Given the description of an element on the screen output the (x, y) to click on. 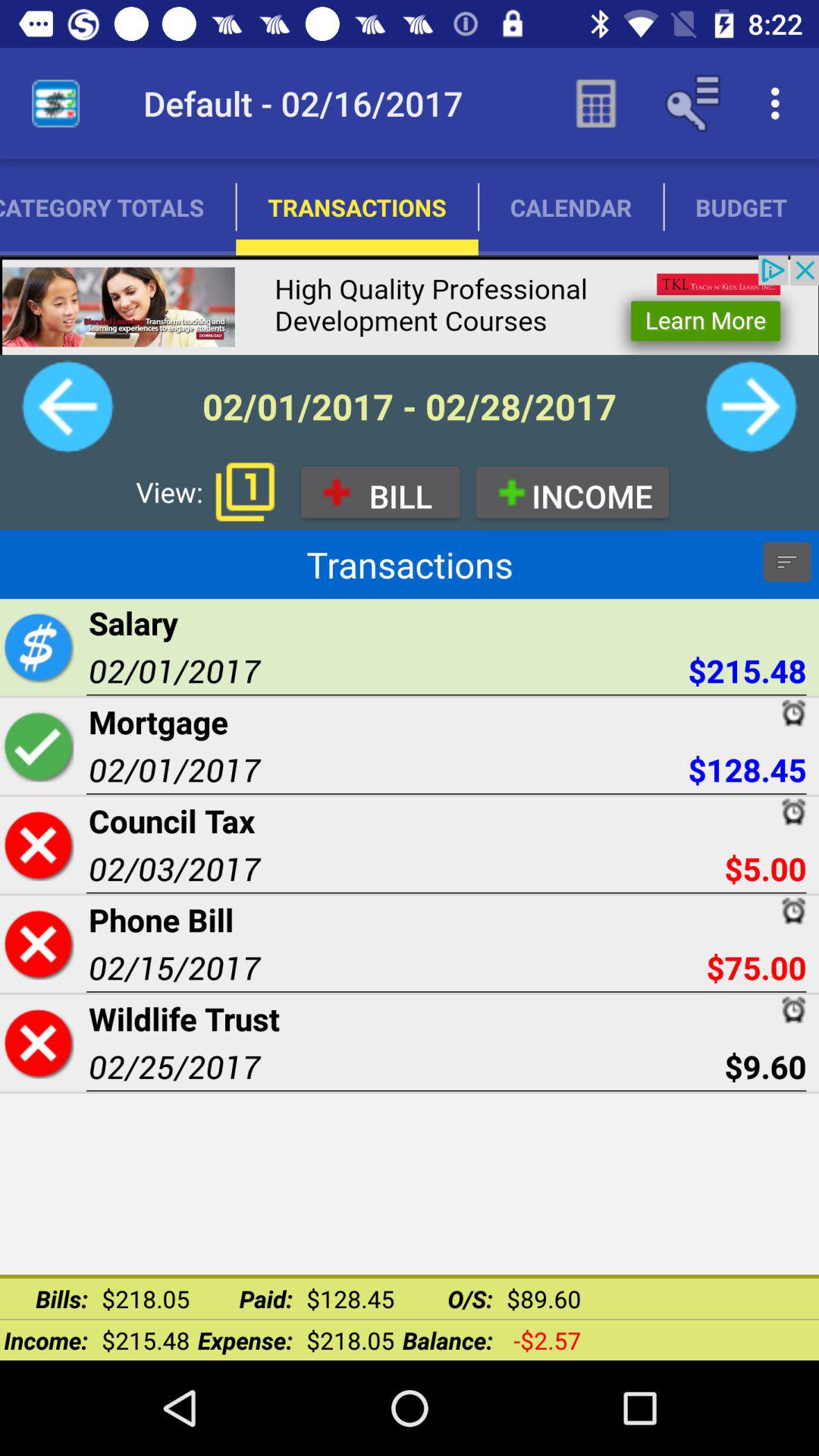
advertisement to redirect you to website (409, 304)
